Given the description of an element on the screen output the (x, y) to click on. 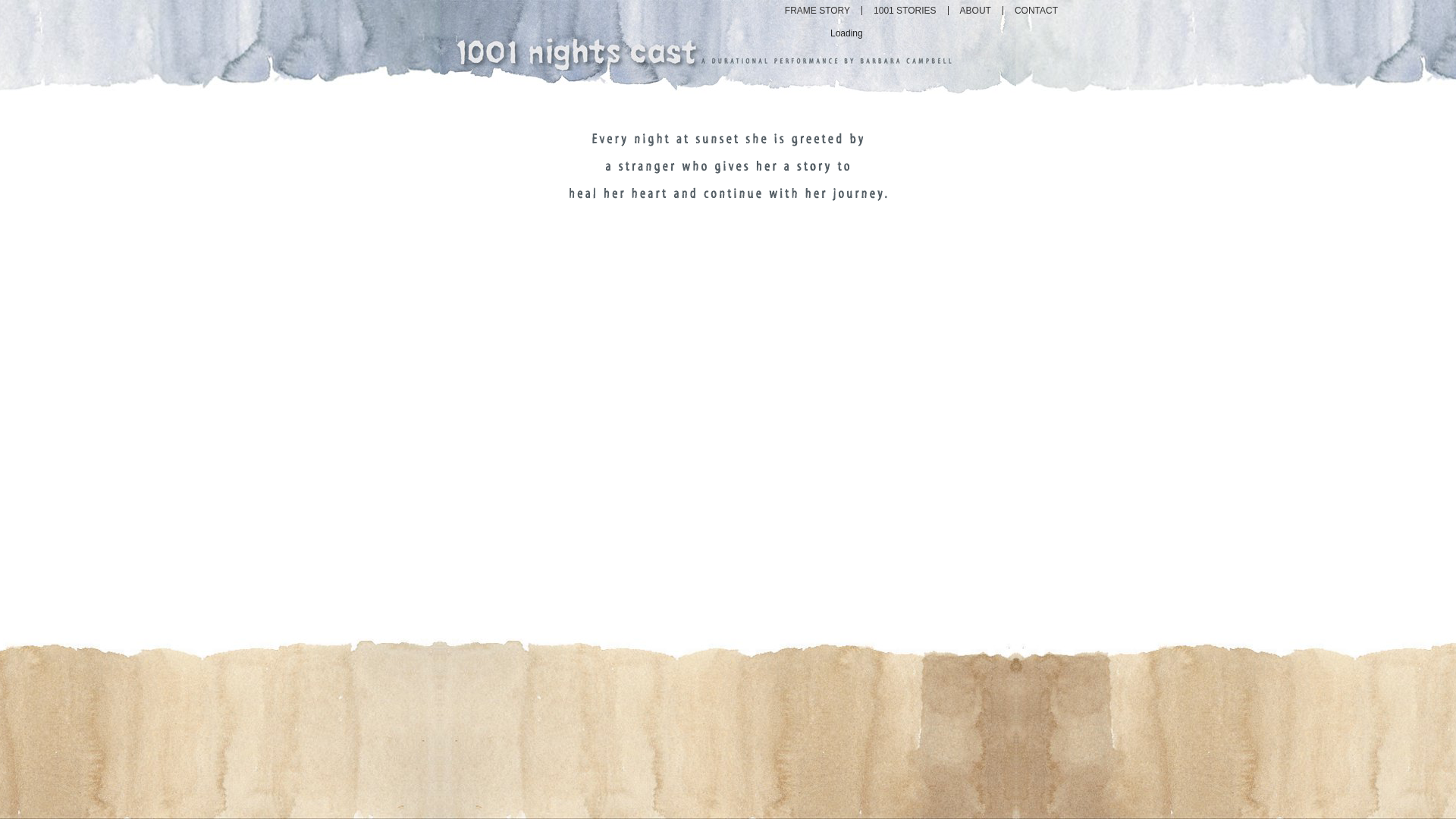
1001 Nights Cast Element type: text (576, 48)
FRAME STORY Element type: text (817, 10)
1001 STORIES Element type: text (904, 10)
CONTACT Element type: text (1035, 10)
ABOUT Element type: text (975, 10)
